Given the description of an element on the screen output the (x, y) to click on. 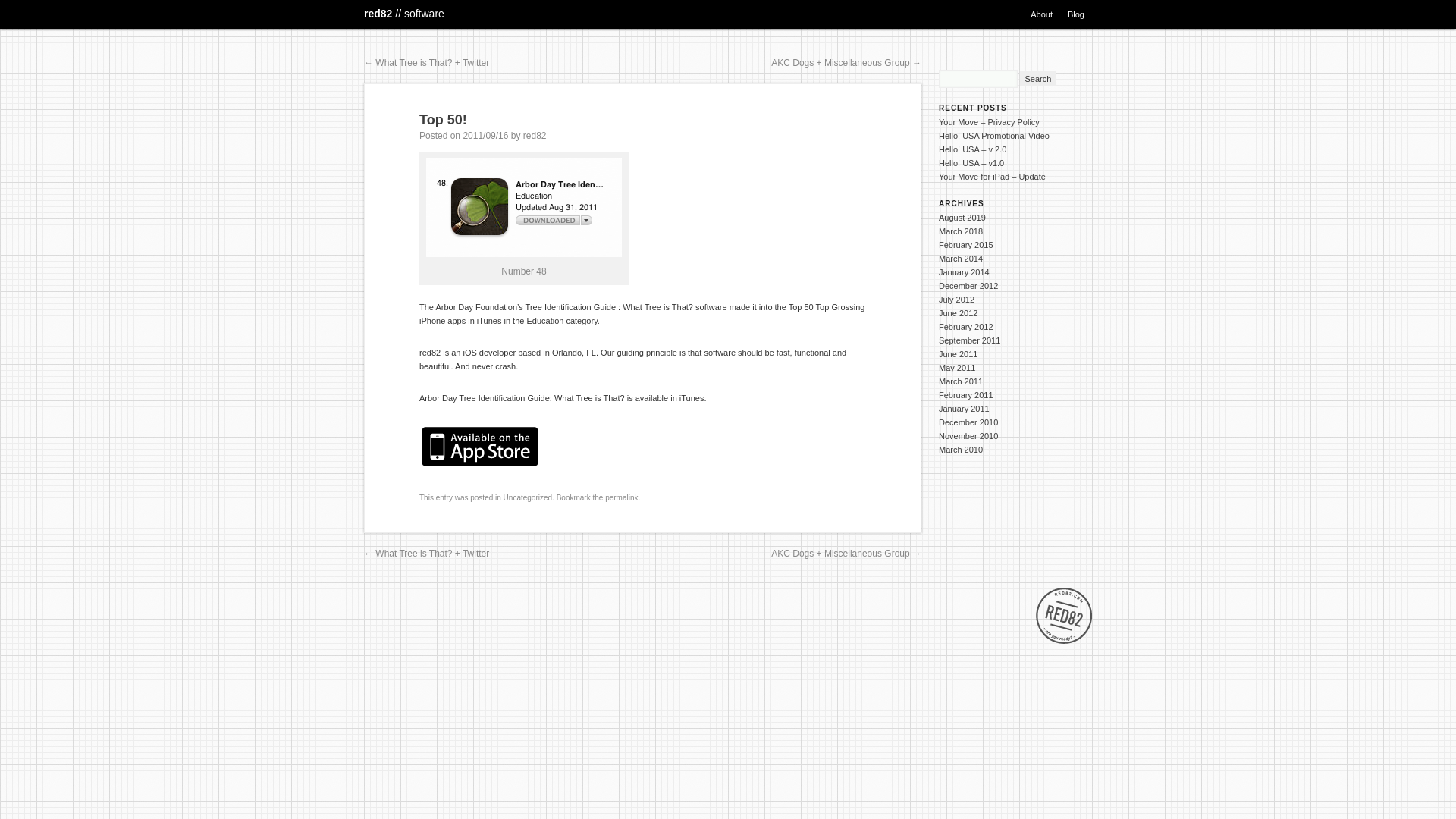
January 2014 (964, 271)
May 2011 (957, 367)
Search (1037, 78)
Hello! USA Promotional Video (994, 135)
Permalink to Top 50! (621, 497)
red82 (404, 13)
November 2010 (968, 435)
March 2011 (960, 380)
permalink (621, 497)
February 2015 (965, 244)
